Given the description of an element on the screen output the (x, y) to click on. 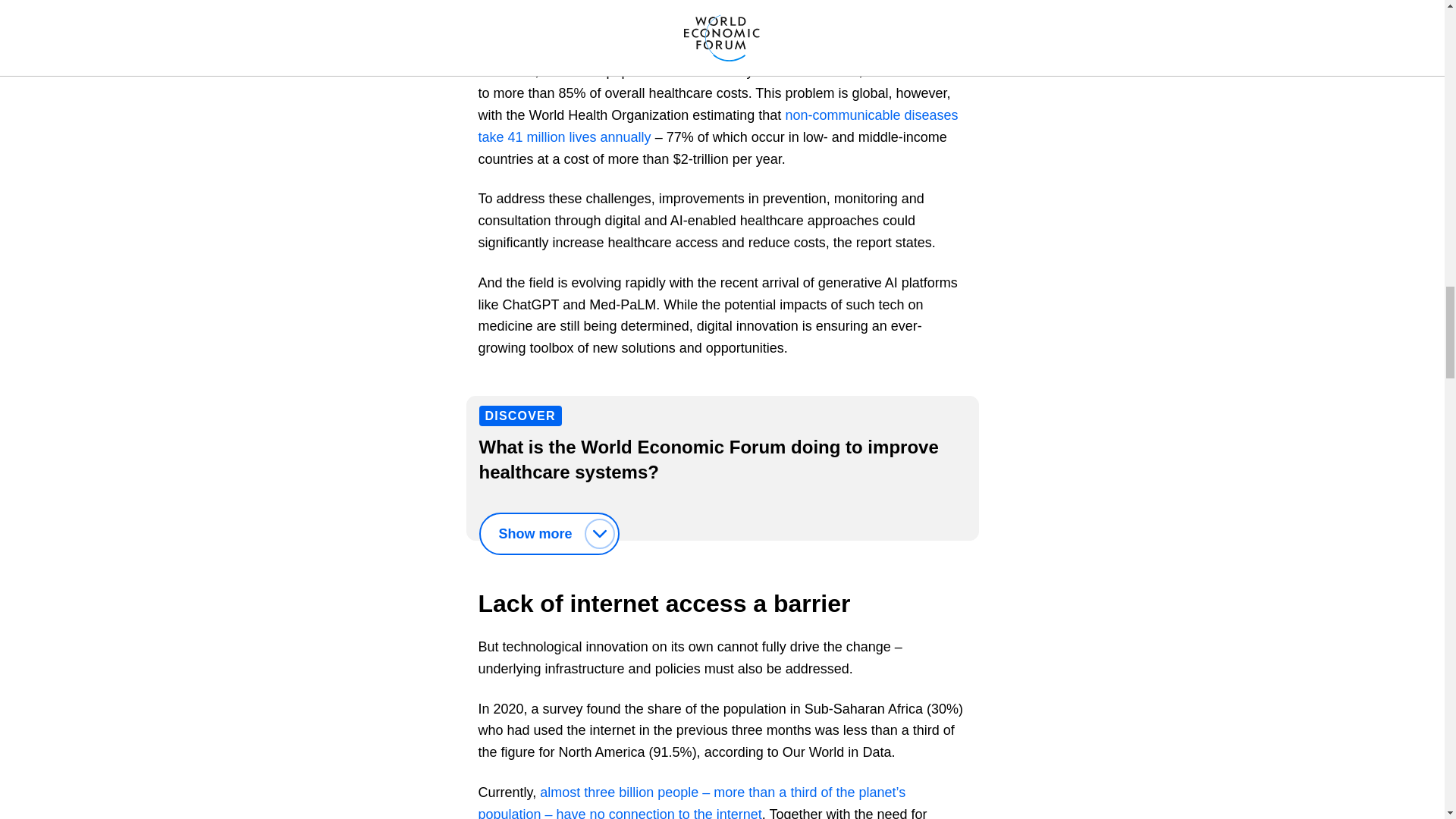
non-communicable diseases take 41 million lives annually (717, 125)
Show more (549, 533)
